Given the description of an element on the screen output the (x, y) to click on. 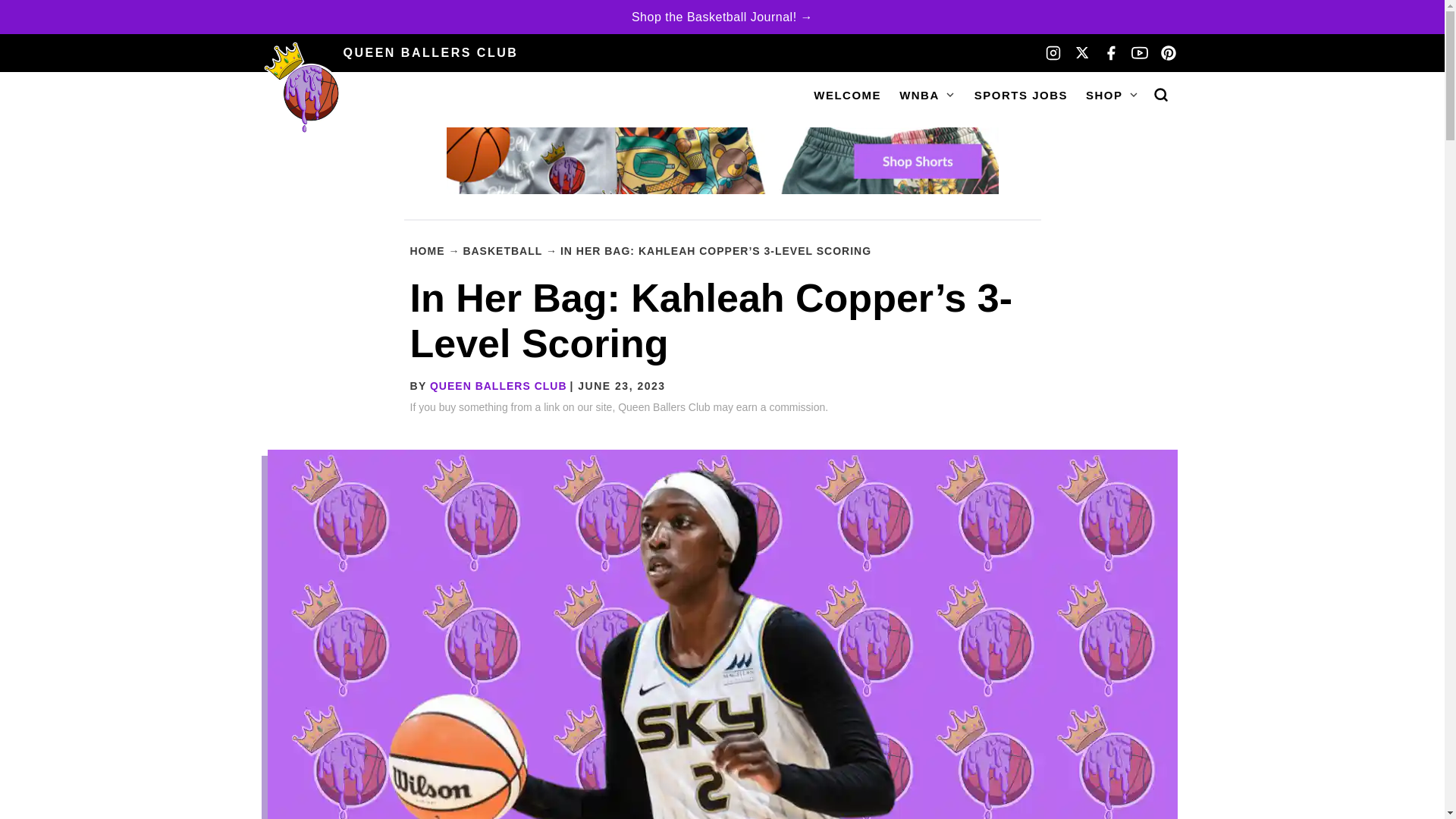
WELCOME (847, 93)
SPORTS JOBS (1021, 93)
